Given the description of an element on the screen output the (x, y) to click on. 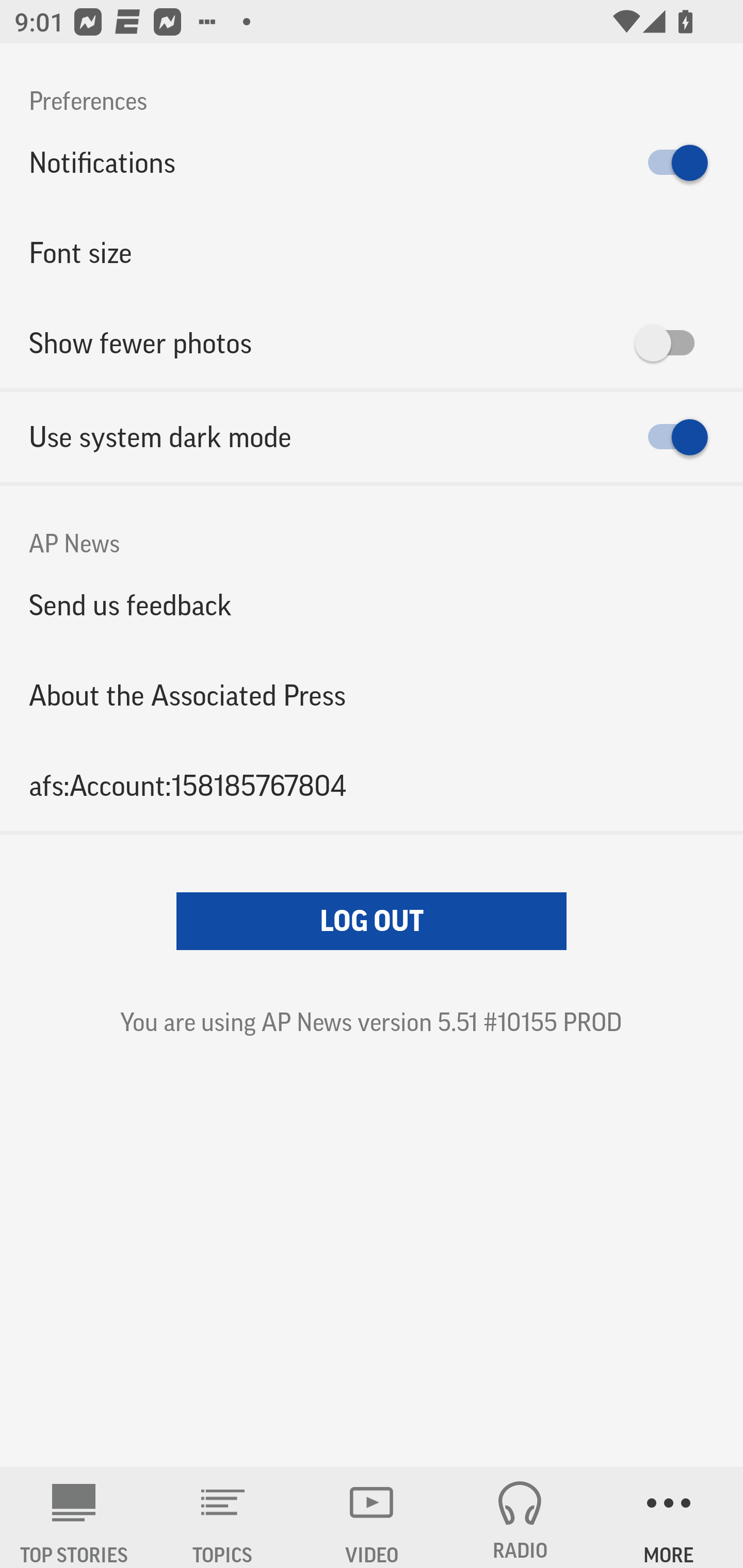
Notifications (371, 162)
Font size (371, 252)
Show fewer photos (371, 342)
Use system dark mode (371, 437)
Send us feedback (371, 604)
About the Associated Press (371, 695)
afs:Account:158185767804 (371, 785)
LOG OUT (371, 921)
AP News TOP STORIES (74, 1517)
TOPICS (222, 1517)
VIDEO (371, 1517)
RADIO (519, 1517)
MORE (668, 1517)
